Given the description of an element on the screen output the (x, y) to click on. 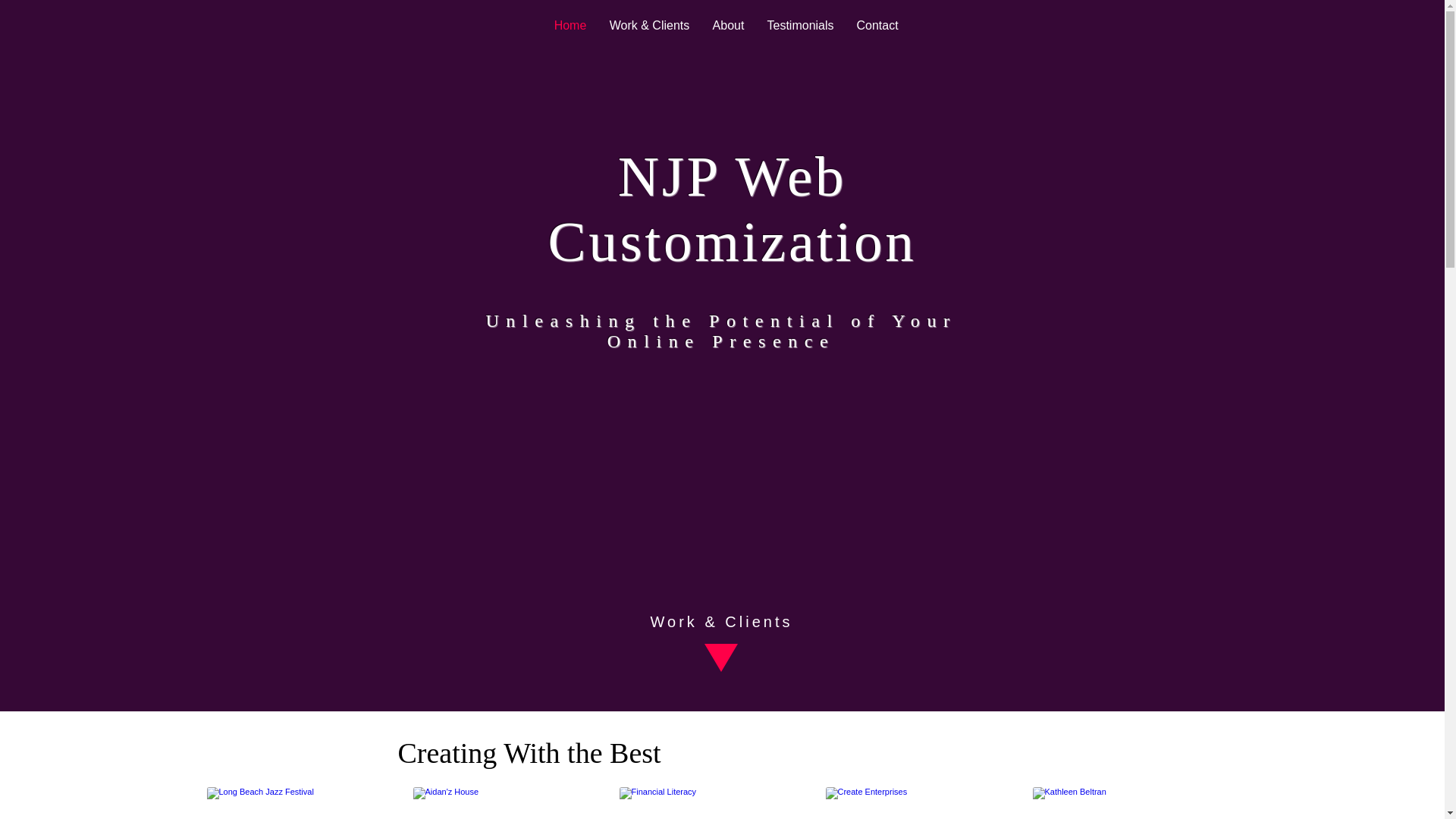
Contact (876, 25)
Testimonials (799, 25)
Home (570, 25)
About (727, 25)
